Given the description of an element on the screen output the (x, y) to click on. 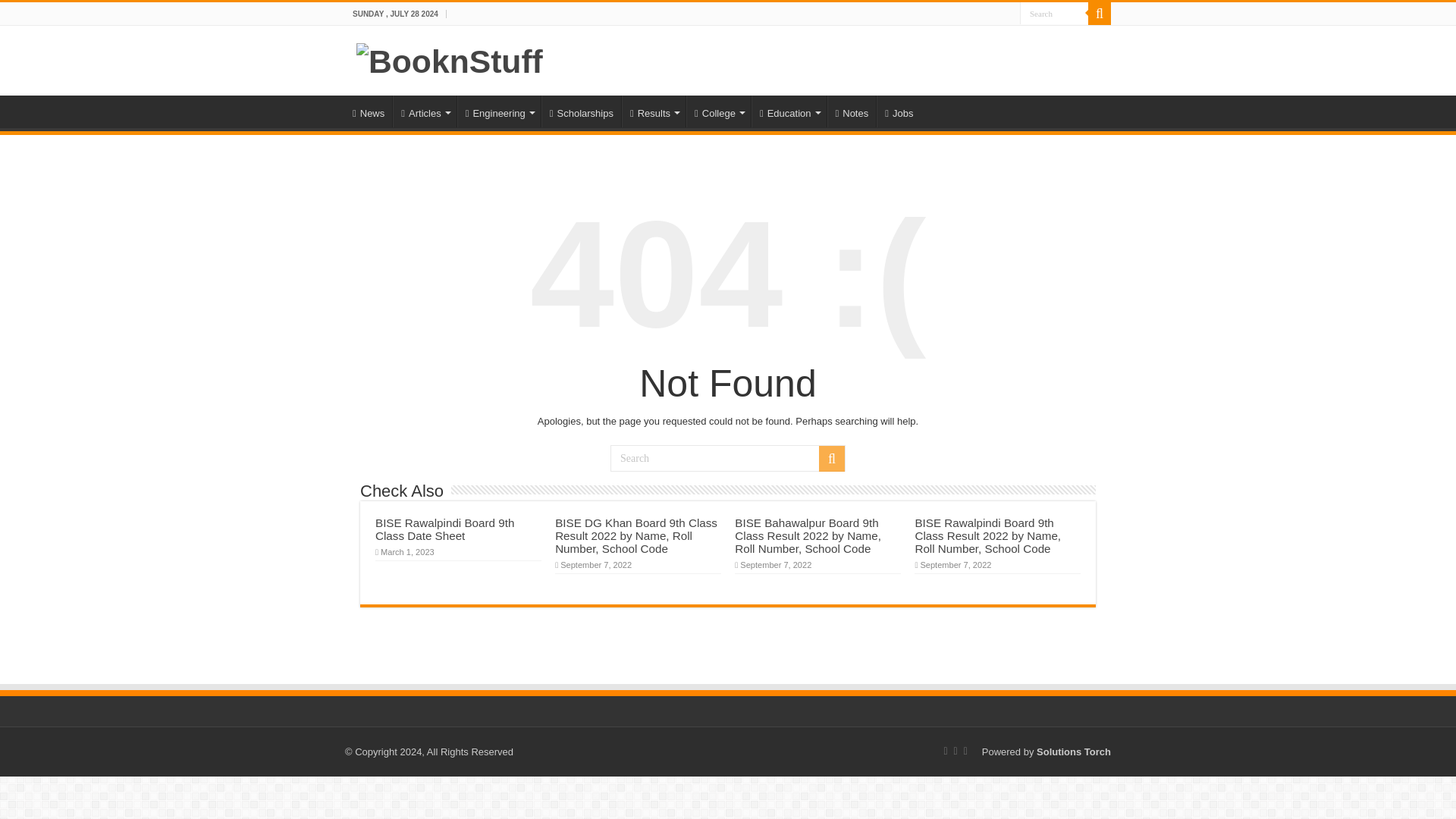
Search (727, 458)
Results (653, 111)
College (718, 111)
Jobs (898, 111)
Education (789, 111)
BooknStuff (449, 58)
News (368, 111)
Results, Date Sheet, Admissions, Merit Lists (718, 111)
Search (831, 458)
Search (1098, 13)
Search (1053, 13)
5th and 8th Class Punjab Education Comission (653, 111)
Search (1053, 13)
Articles (424, 111)
